Given the description of an element on the screen output the (x, y) to click on. 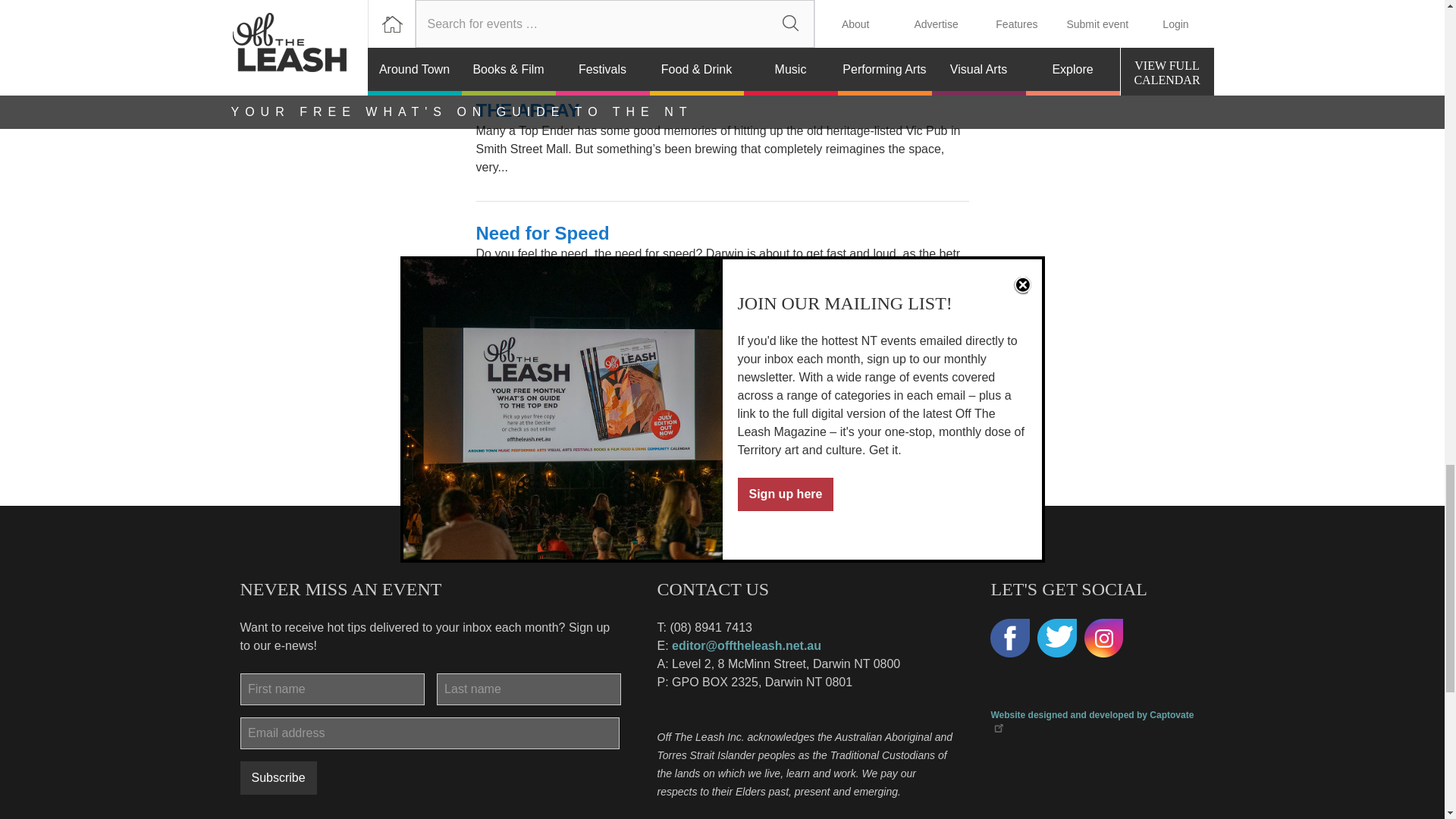
Need for Speed (543, 232)
Follow us on Twitter (1056, 638)
Like us on Facebook (1009, 638)
Dragonflies Abuzz (554, 7)
Subscribe (277, 777)
Follow us on Instagram (1104, 638)
Darwin Seniors Expo (567, 337)
THE ARRAY (527, 109)
Subscribe (277, 777)
Website designed and developed by Captovate (1091, 721)
